Given the description of an element on the screen output the (x, y) to click on. 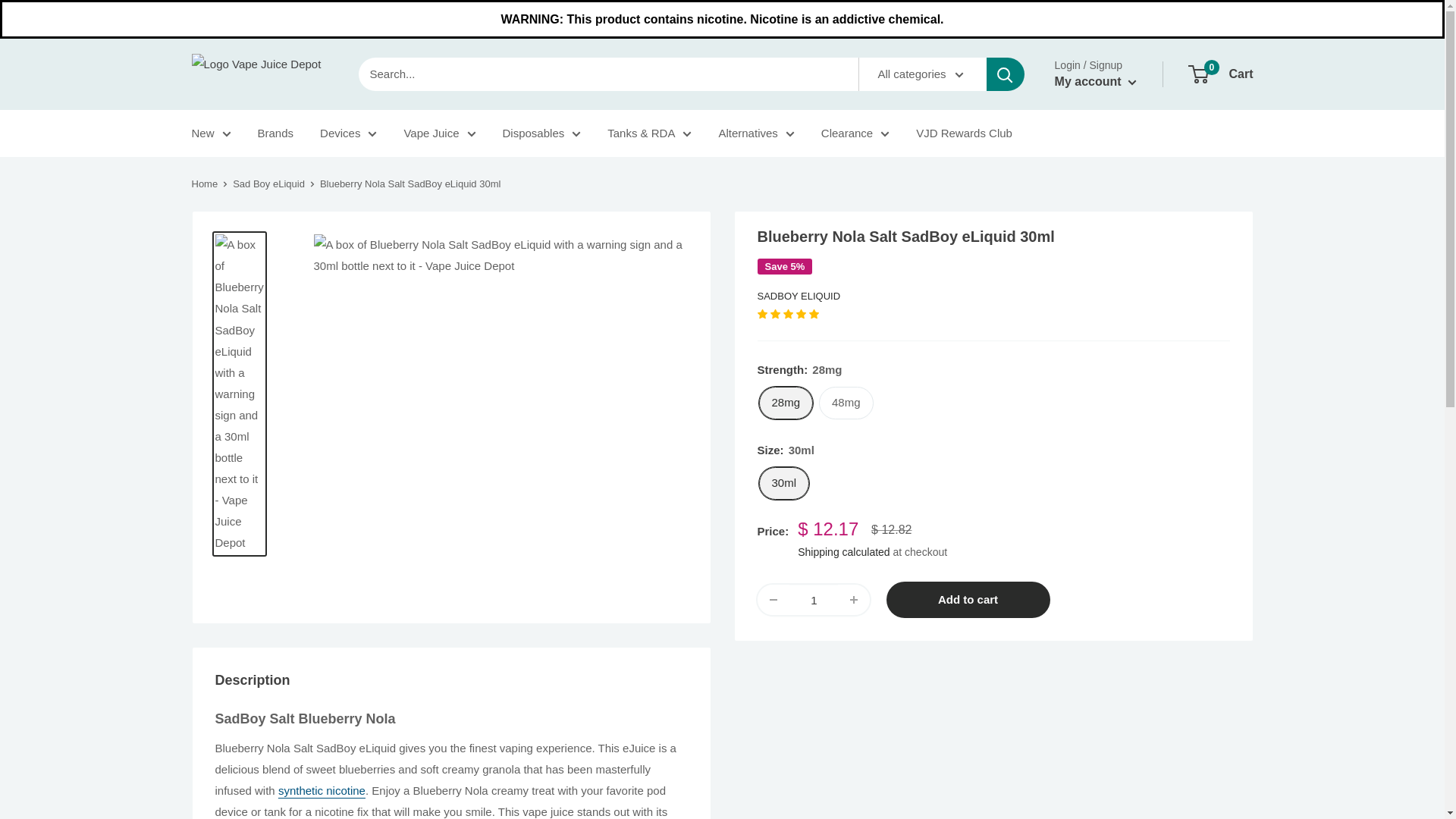
28mg (785, 402)
Sad Boy eLiquid (268, 183)
1 (813, 599)
30ml (783, 482)
Decrease quantity by 1 (773, 599)
Increase quantity by 1 (853, 599)
Synthetic Nicotine eLiquid (321, 789)
48mg (845, 402)
